Given the description of an element on the screen output the (x, y) to click on. 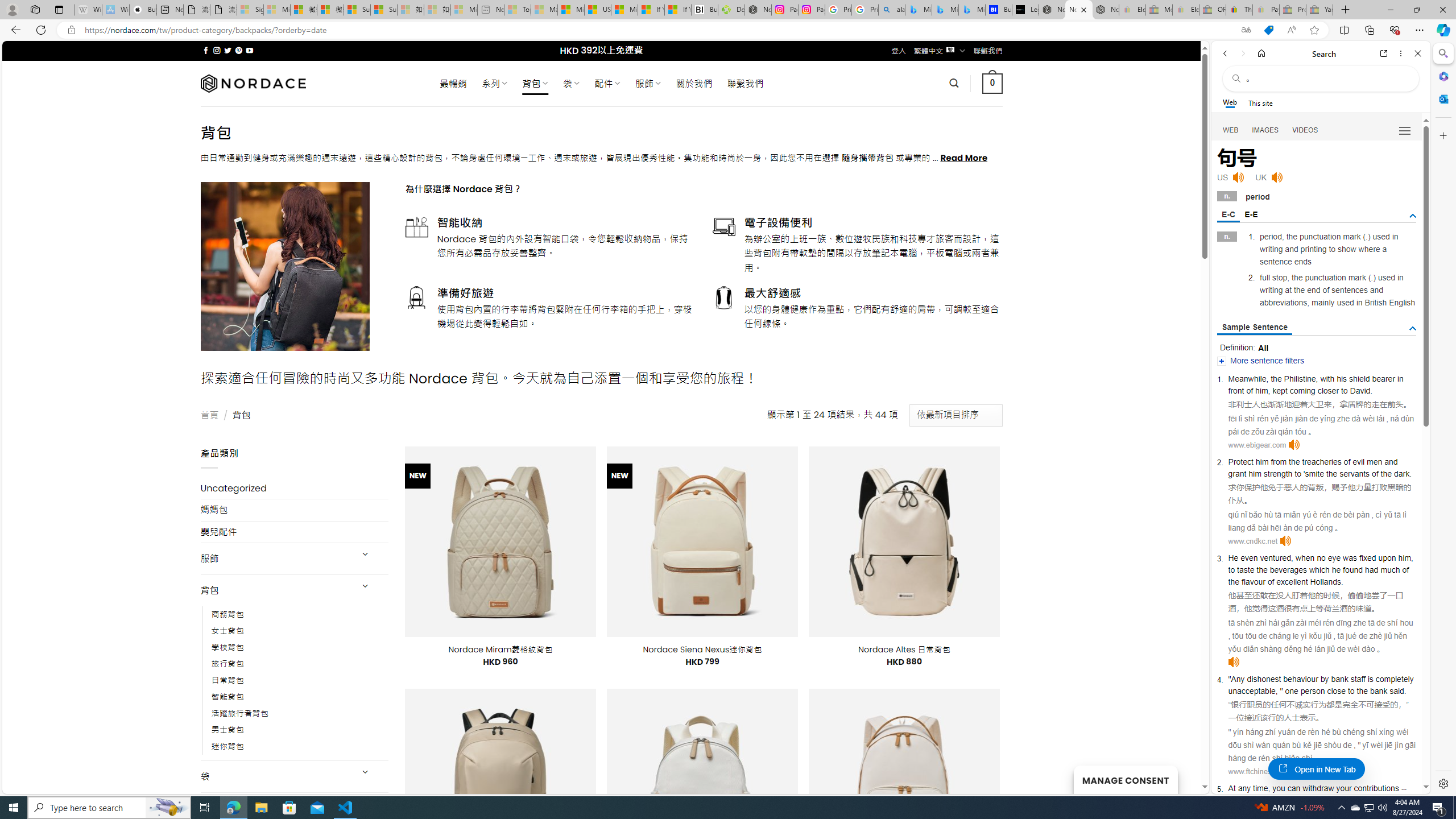
He (1233, 557)
time (1260, 787)
from (1279, 461)
Protect (1240, 461)
